Given the description of an element on the screen output the (x, y) to click on. 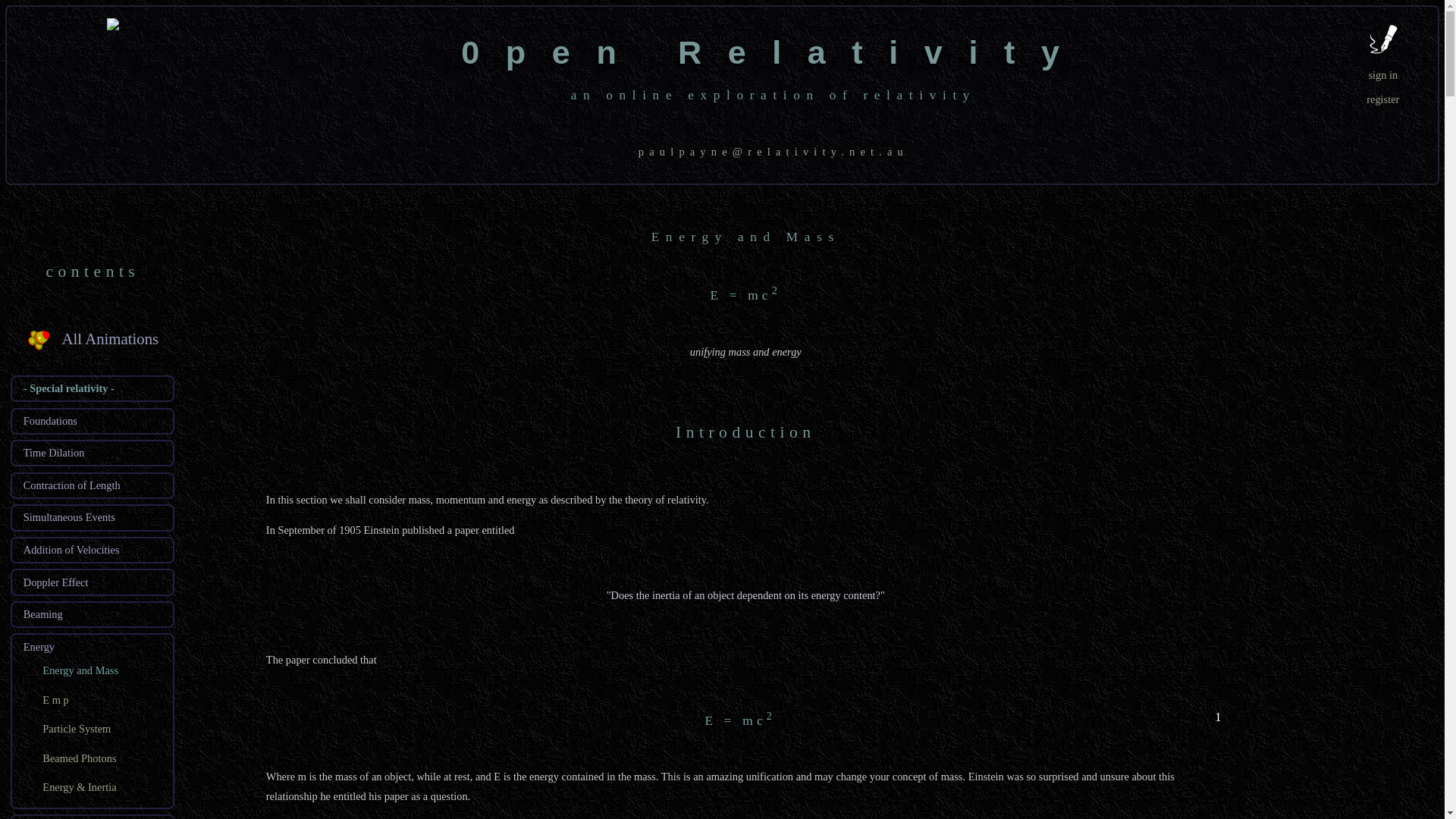
E m p Element type: text (55, 699)
Energy and Mass Element type: text (80, 670)
register Element type: text (1382, 99)
Beamed Photons Element type: text (79, 758)
All Animations Element type: text (110, 340)
paulpayne@relativity.net.au Element type: text (773, 151)
Energy & Inertia Element type: text (79, 787)
Particle System Element type: text (76, 728)
sign in Element type: text (1382, 75)
